Given the description of an element on the screen output the (x, y) to click on. 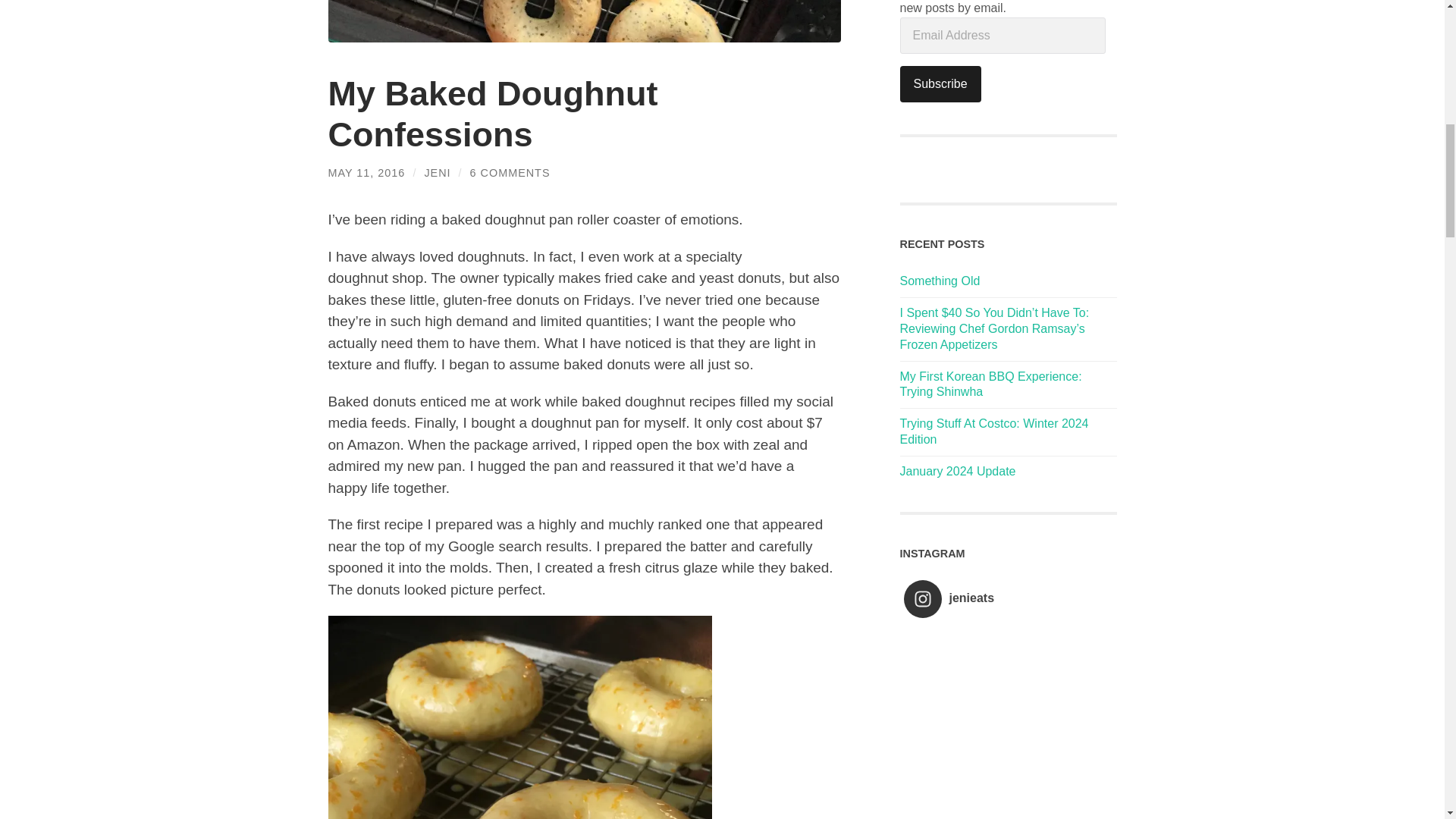
Posts by Jeni (436, 173)
6 COMMENTS (510, 173)
JENI (436, 173)
MAY 11, 2016 (365, 173)
